Given the description of an element on the screen output the (x, y) to click on. 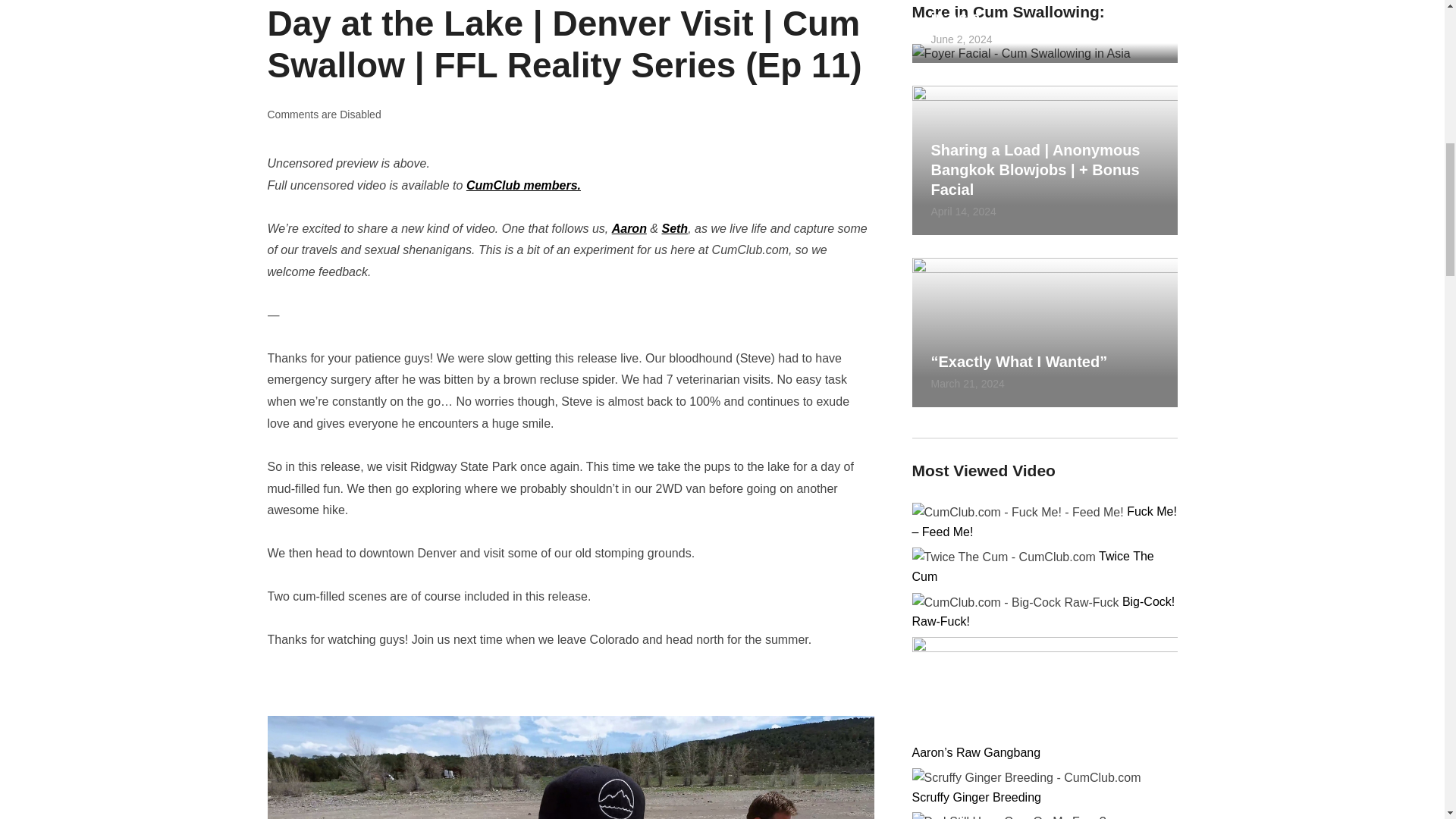
Seth (674, 227)
Aaron (628, 227)
Scruffy Ginger Breeding (976, 797)
Twice The Cum (1032, 566)
Big-Cock! Raw-Fuck! (1042, 611)
CumClub members. (522, 185)
